Given the description of an element on the screen output the (x, y) to click on. 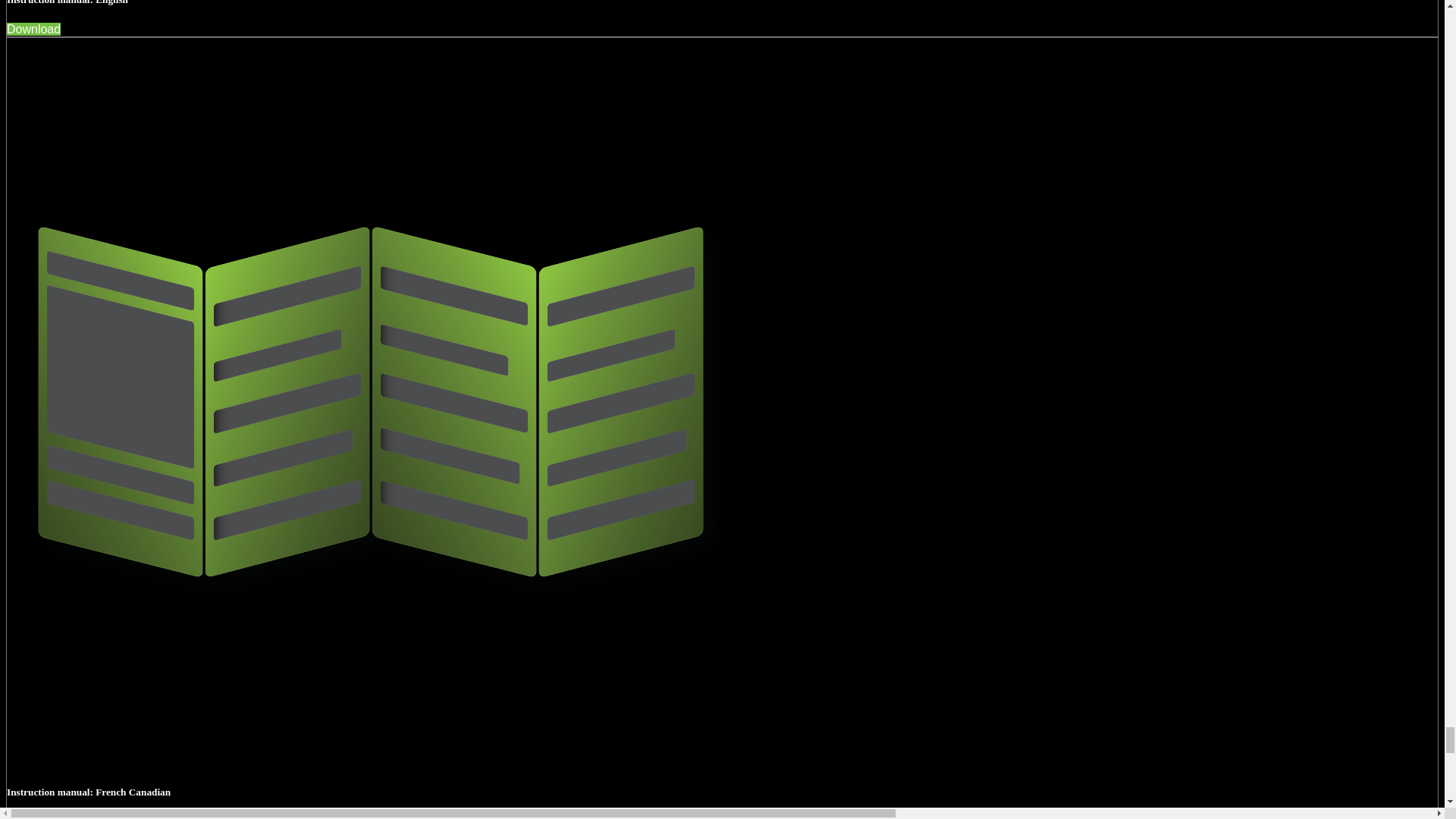
Download (34, 29)
Download (34, 816)
